Given the description of an element on the screen output the (x, y) to click on. 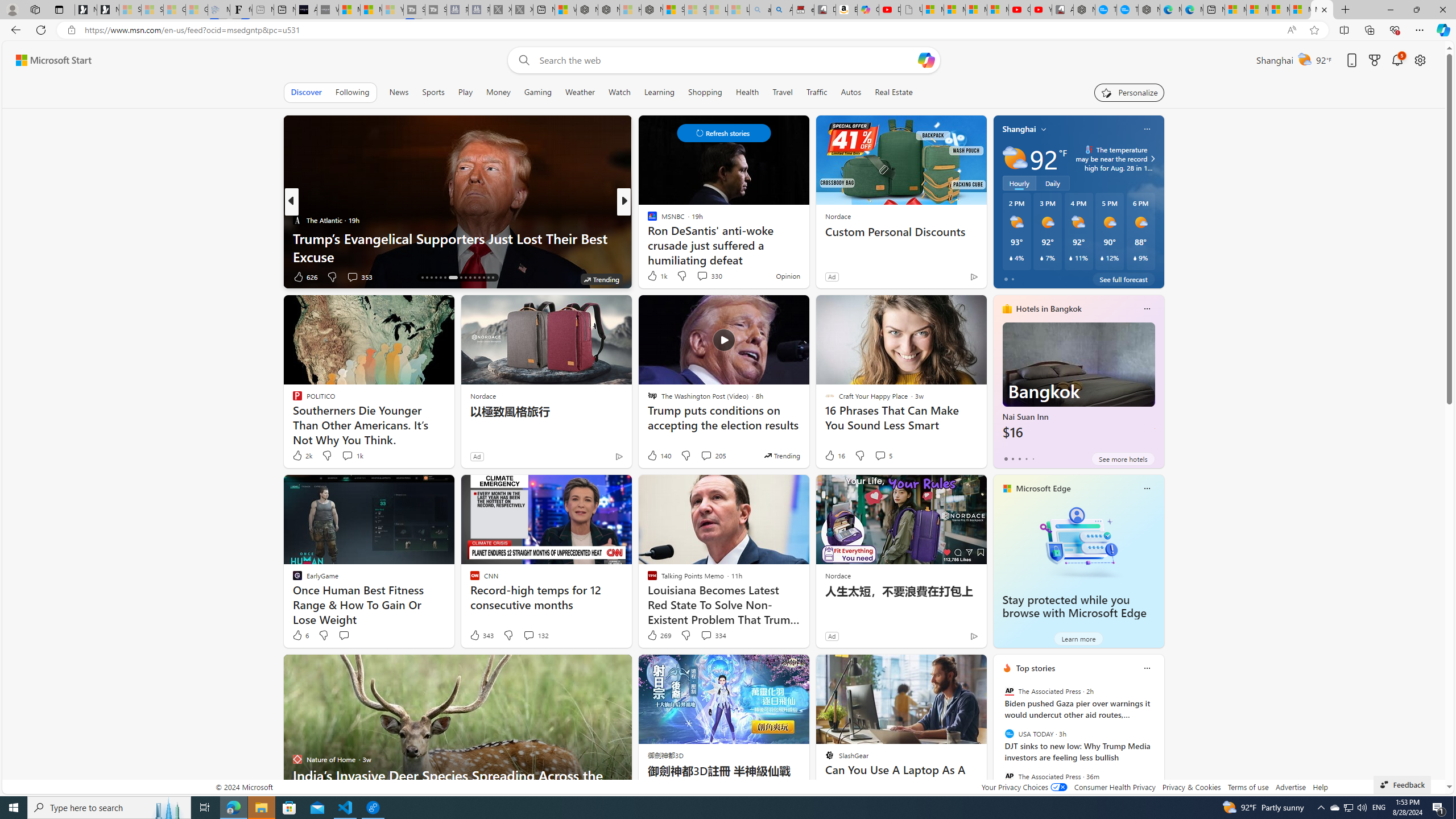
View comments 6 Comment (6, 276)
ABC News (647, 219)
previous (998, 741)
Partly sunny (1014, 158)
View comments 353 Comment (359, 276)
Microsoft Start (1322, 9)
My location (1043, 128)
Travel (782, 92)
Learning (659, 92)
